Given the description of an element on the screen output the (x, y) to click on. 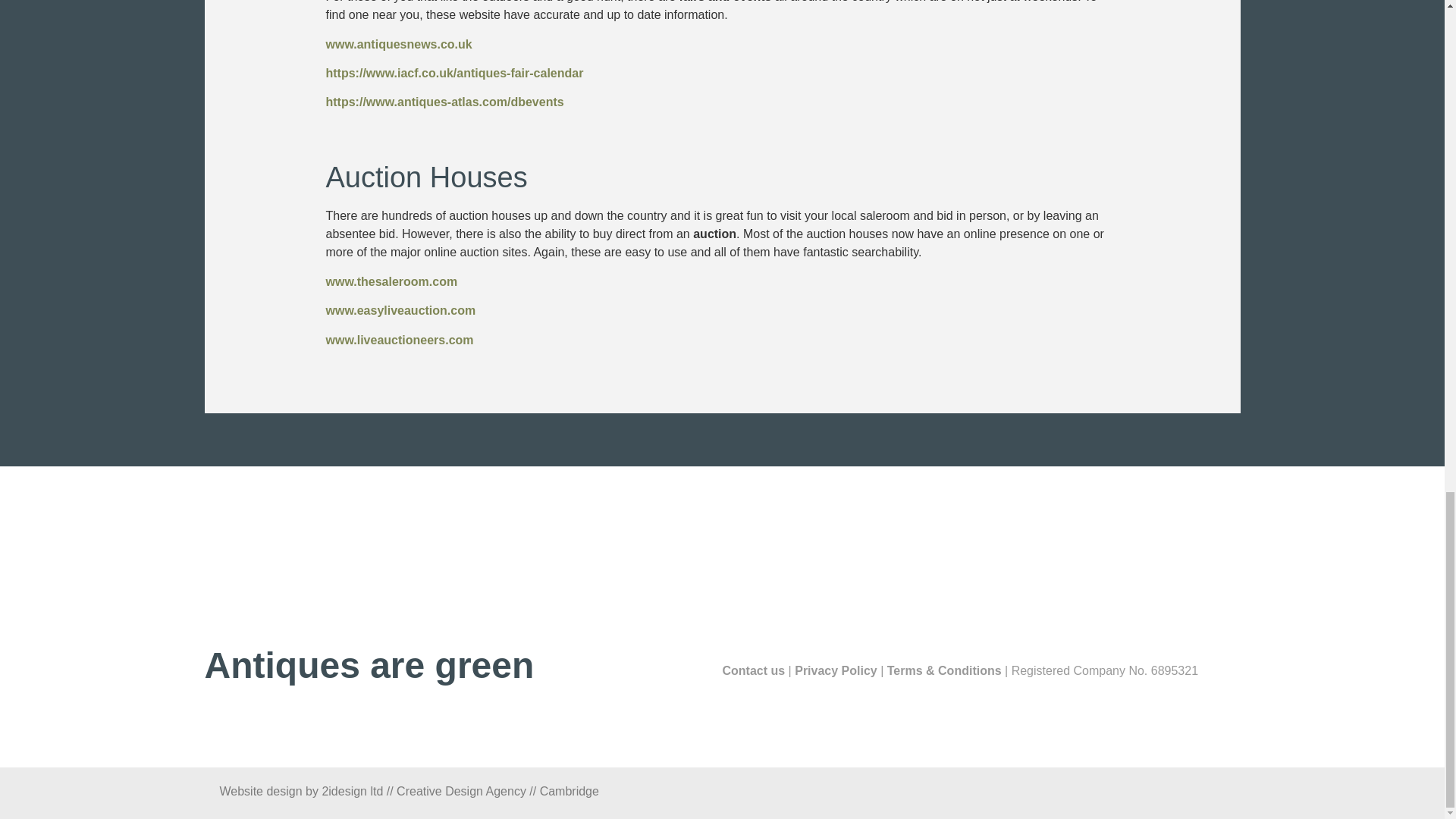
www.antiquesnews.co.uk (398, 43)
www.liveauctioneers.com (400, 339)
Contact us (753, 670)
www.easyliveauction.com (401, 309)
Privacy Policy (835, 670)
www.thesaleroom.com (392, 281)
